Given the description of an element on the screen output the (x, y) to click on. 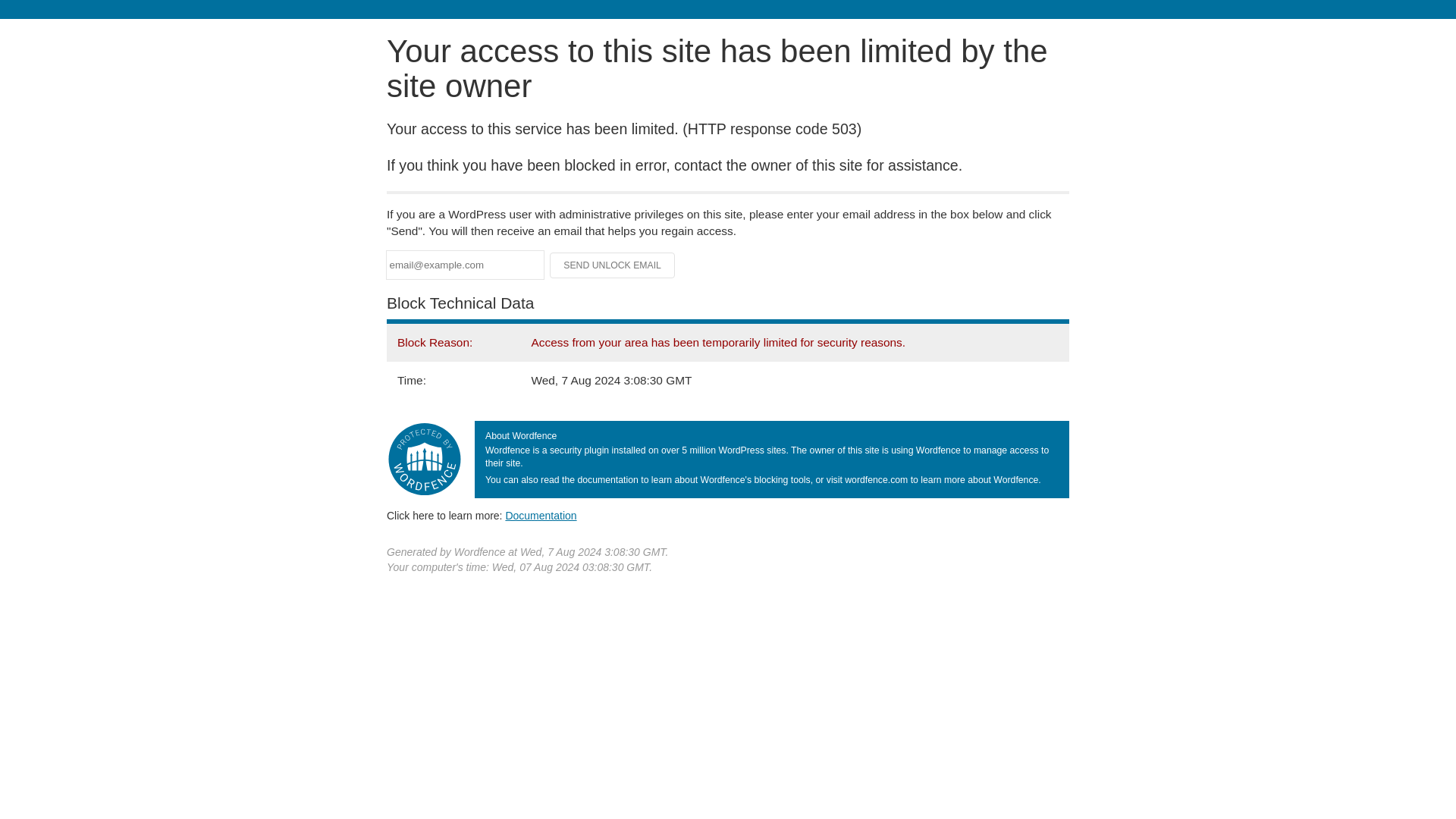
Send Unlock Email (612, 265)
Send Unlock Email (612, 265)
Documentation (540, 515)
